Given the description of an element on the screen output the (x, y) to click on. 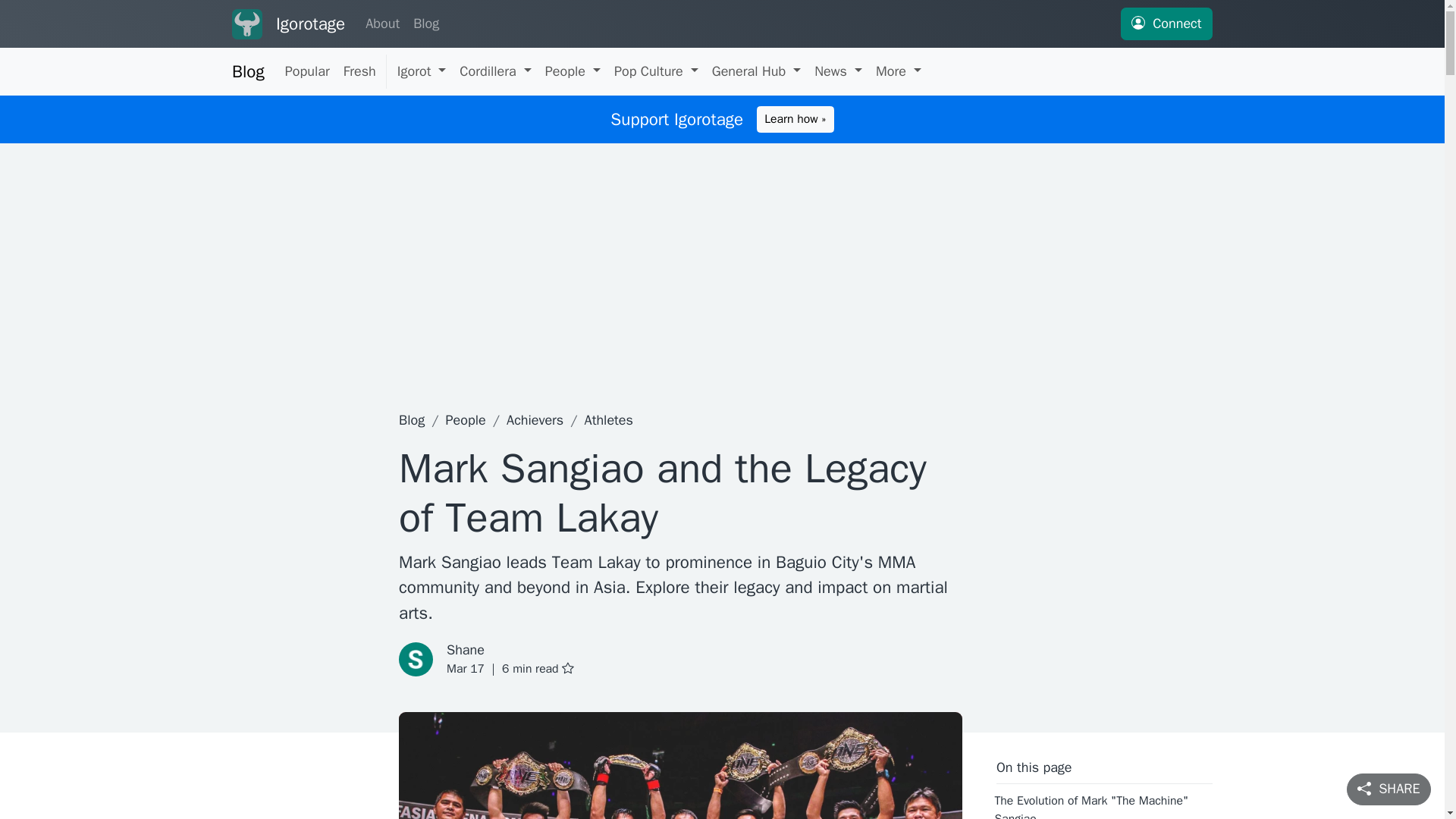
Igorotage (246, 24)
Connect (1166, 23)
About (382, 23)
Igorotage (310, 23)
Blog (425, 23)
Mar 17, 2024 at 01:13pm (465, 668)
Igorotage logo nav (246, 24)
